Given the description of an element on the screen output the (x, y) to click on. 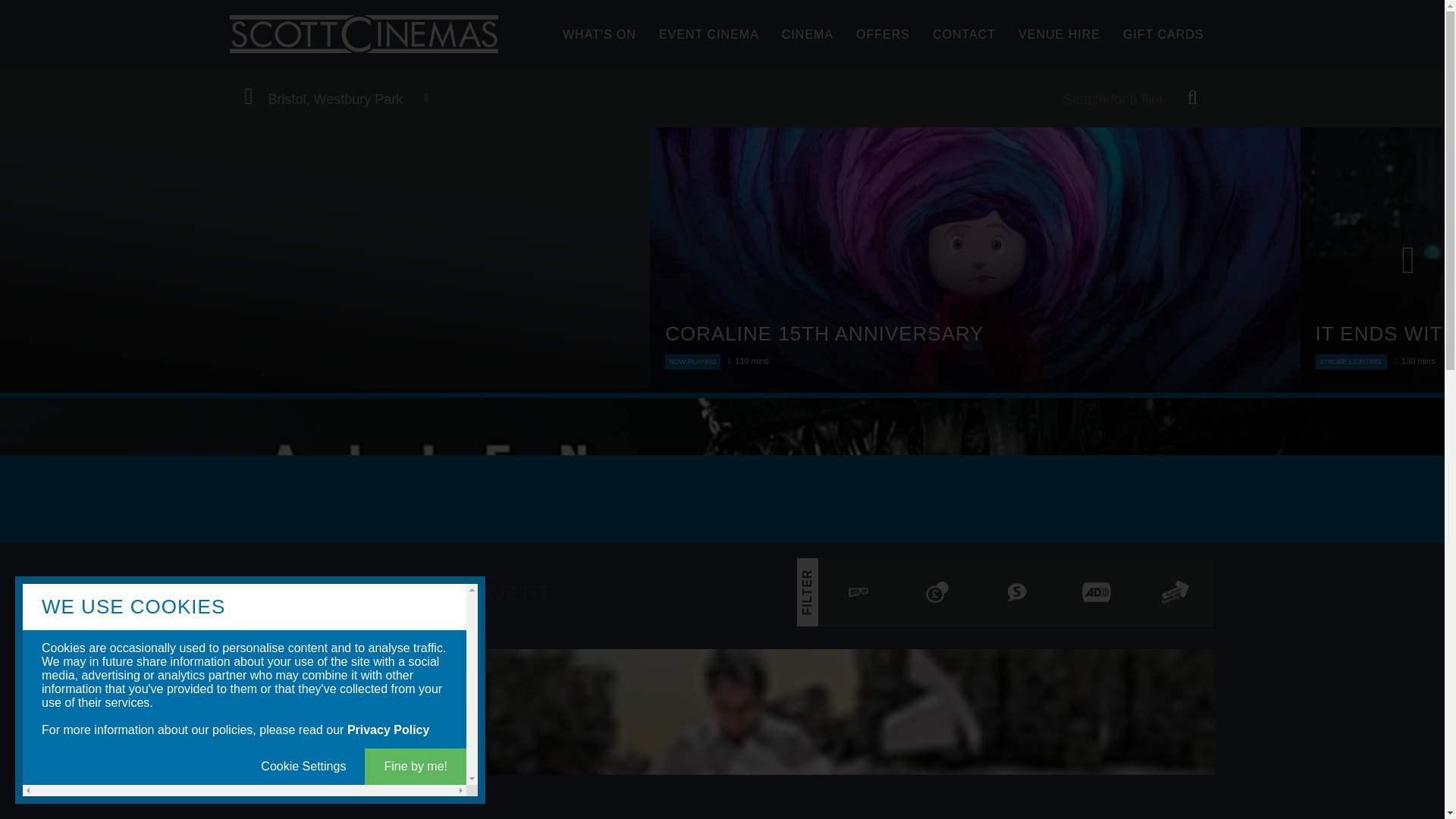
VENUE HIRE (1059, 42)
WHAT'S ON (599, 42)
CONTACT (964, 42)
OFFERS (882, 42)
CINEMA (807, 42)
GIFT CARDS (1163, 42)
EVENT CINEMA (708, 42)
